Given the description of an element on the screen output the (x, y) to click on. 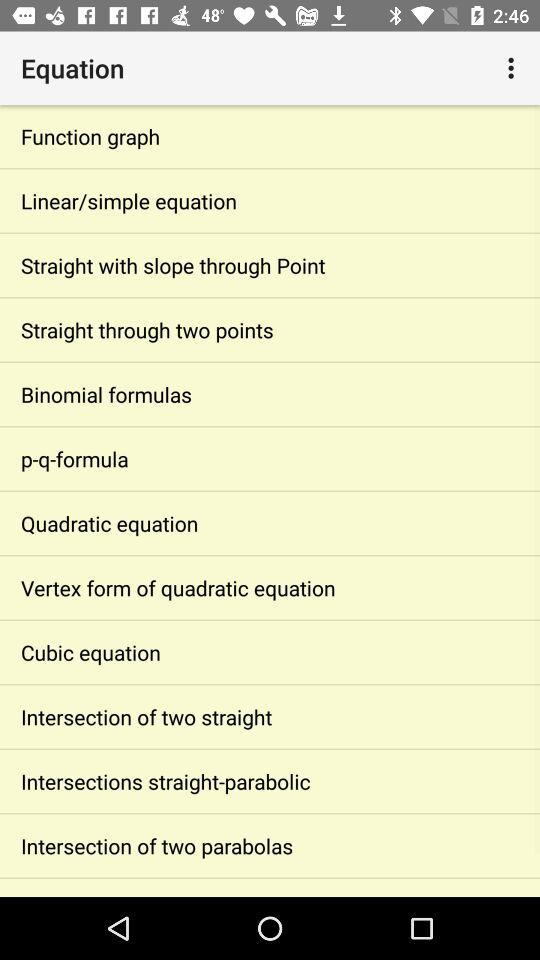
open perpendicular bisector icon (270, 887)
